Given the description of an element on the screen output the (x, y) to click on. 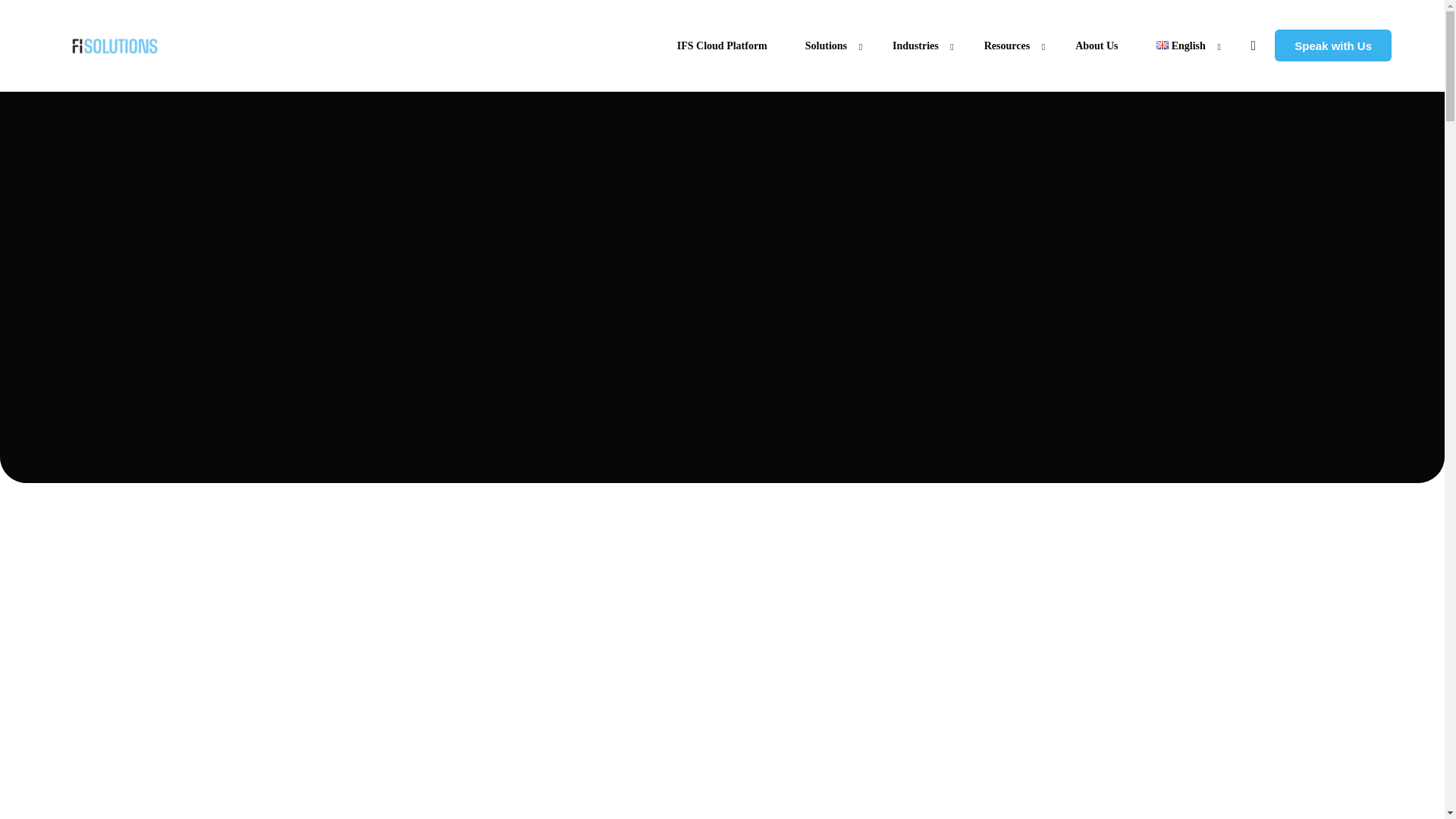
IFS Cloud Platform (722, 45)
Resources (1011, 45)
Industries (919, 45)
Solutions (829, 45)
